Given the description of an element on the screen output the (x, y) to click on. 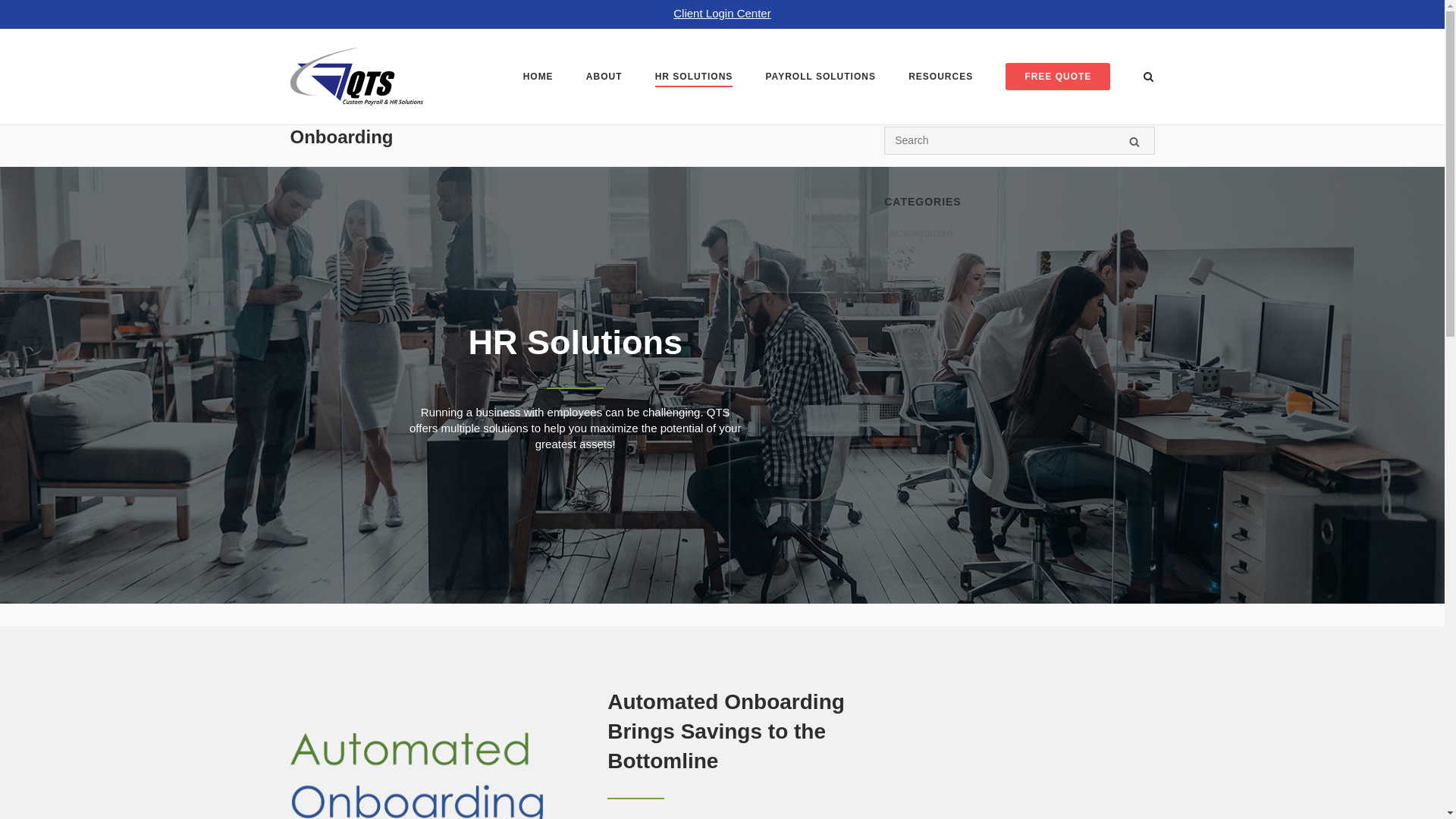
HR SOLUTIONS (694, 78)
HOME (537, 78)
May 2024 (906, 328)
Uncategorized (917, 232)
PAYROLL SOLUTIONS (820, 78)
FREE QUOTE (1057, 76)
ABOUT (604, 78)
Client Login Center (721, 11)
RESOURCES (940, 78)
August 2022 (913, 355)
